Given the description of an element on the screen output the (x, y) to click on. 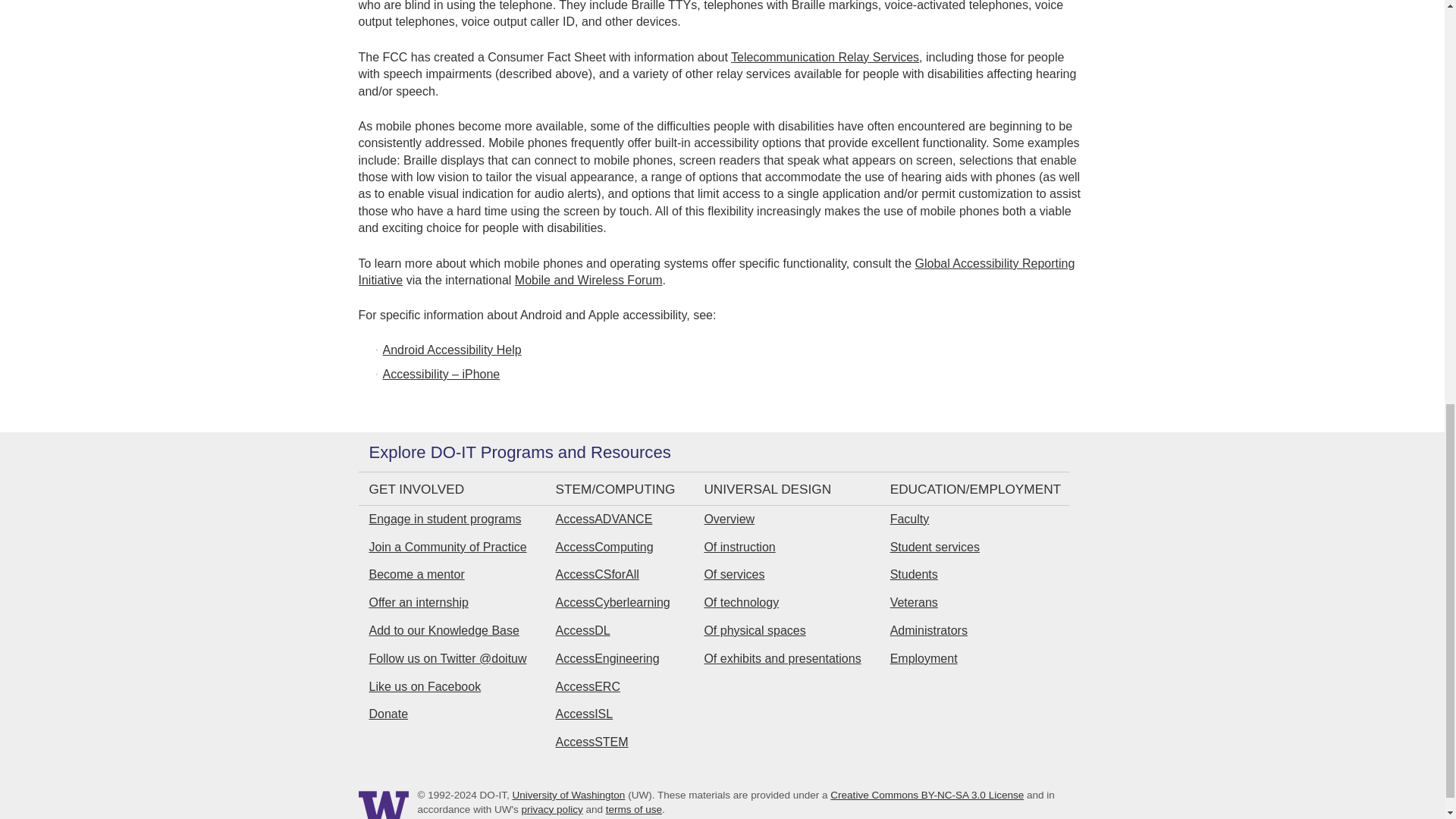
Engage in student programs (444, 518)
Donate (387, 713)
Mobile and Wireless Forum (588, 279)
Offer an internship (417, 602)
Join a Community of Practice (446, 546)
Become a mentor (416, 574)
Telecommunication Relay Services (824, 56)
Android Accessibility Help (451, 349)
Like us on Facebook (424, 686)
Add to our Knowledge Base (443, 630)
